Given the description of an element on the screen output the (x, y) to click on. 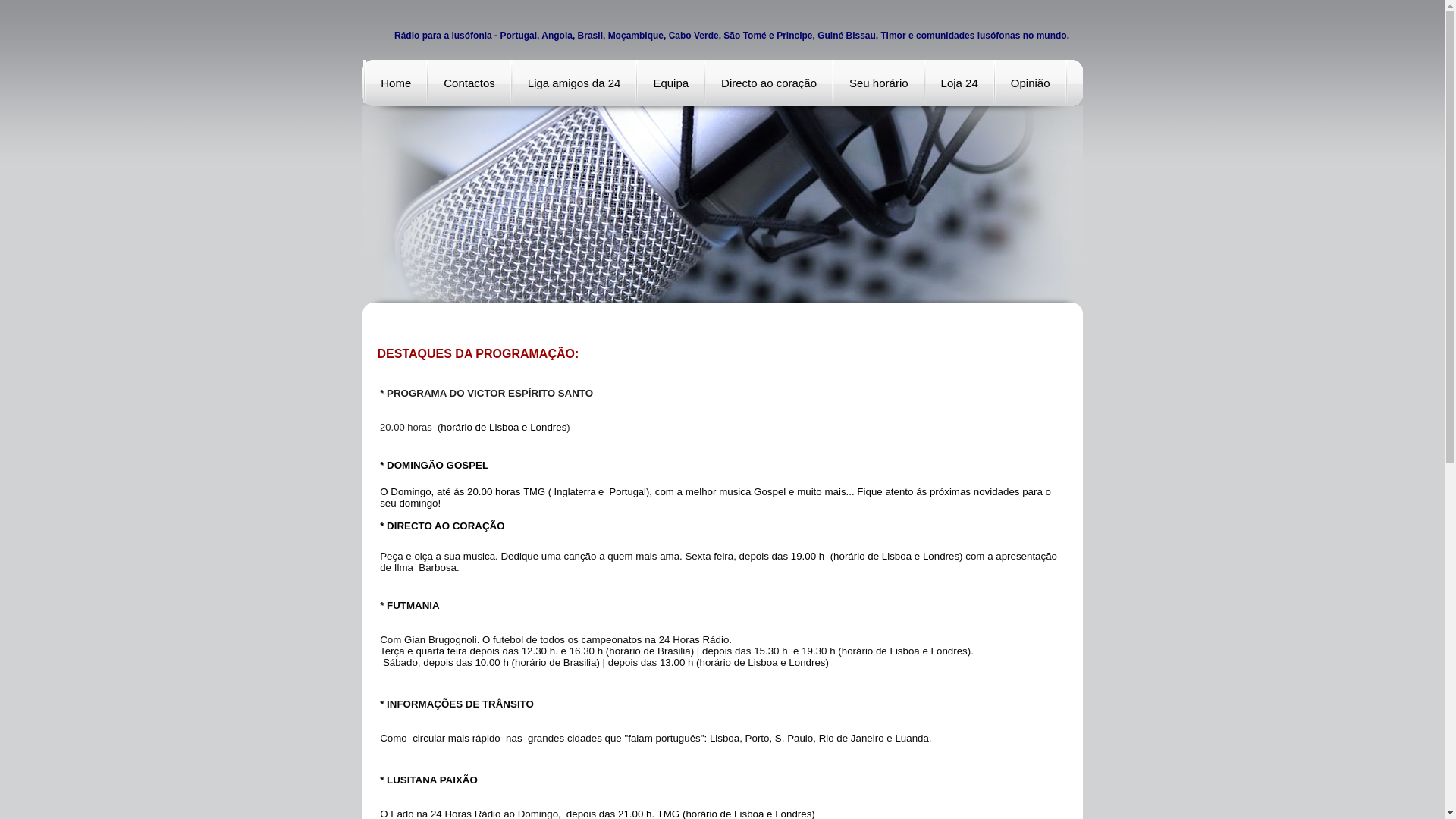
Liga amigos da 24 Element type: text (574, 82)
Contactos Element type: text (469, 82)
Loja 24 Element type: text (959, 82)
Equipa Element type: text (670, 82)
Home Element type: text (395, 82)
